Given the description of an element on the screen output the (x, y) to click on. 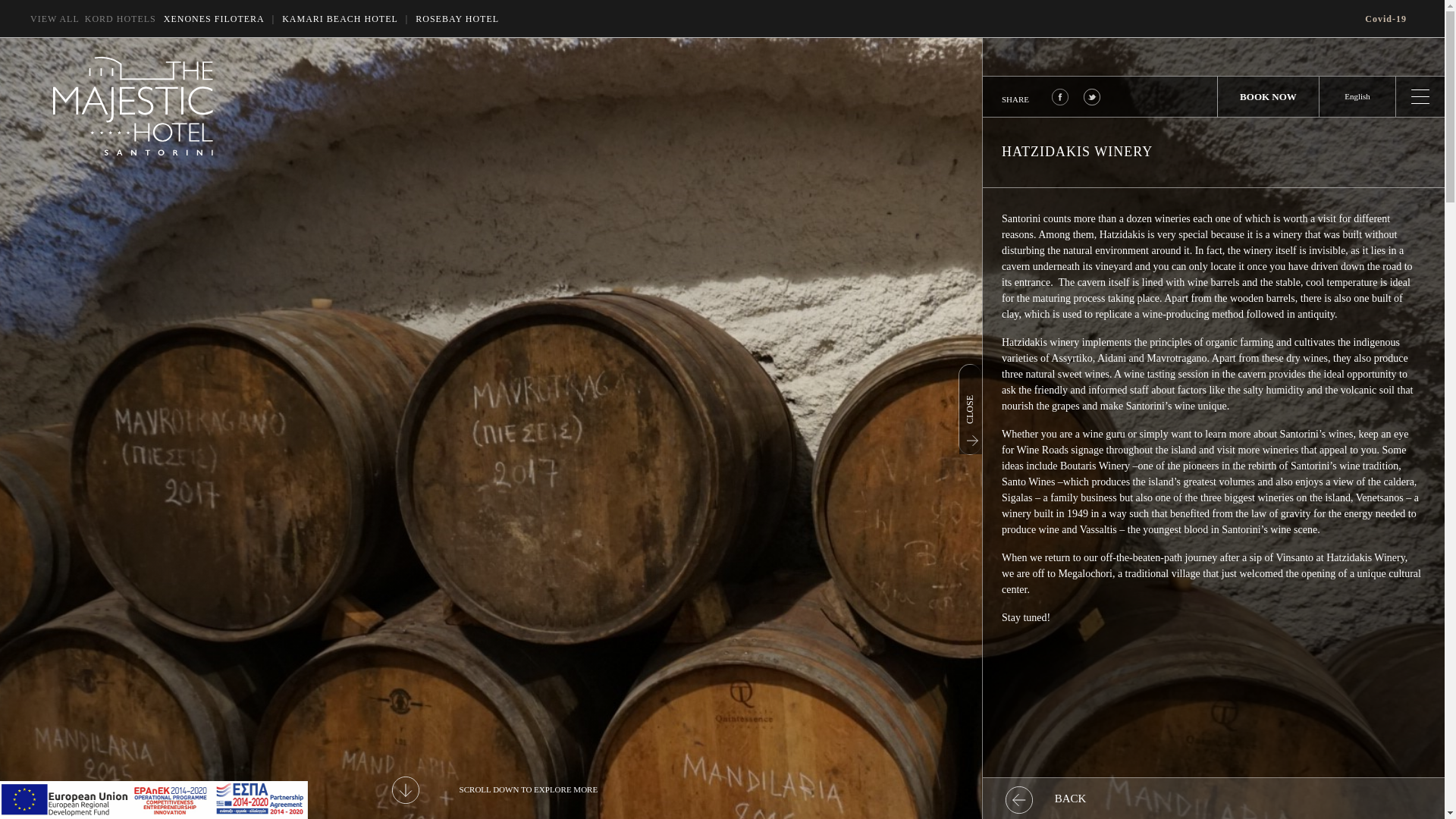
ROSEBAY HOTEL (456, 18)
SCROLL DOWN TO EXPLORE MORE (495, 790)
SCROLL DOWN TO EXPLORE MORE (495, 790)
KAMARI BEACH HOTEL (339, 18)
XENONES FILOTERA (213, 18)
BOOK NOW (1268, 96)
Kamari Beach Hotel (339, 18)
Covid-19 (1385, 18)
ROSEBAY HOTEL (456, 18)
XENONES FILOTERA (213, 18)
